Given the description of an element on the screen output the (x, y) to click on. 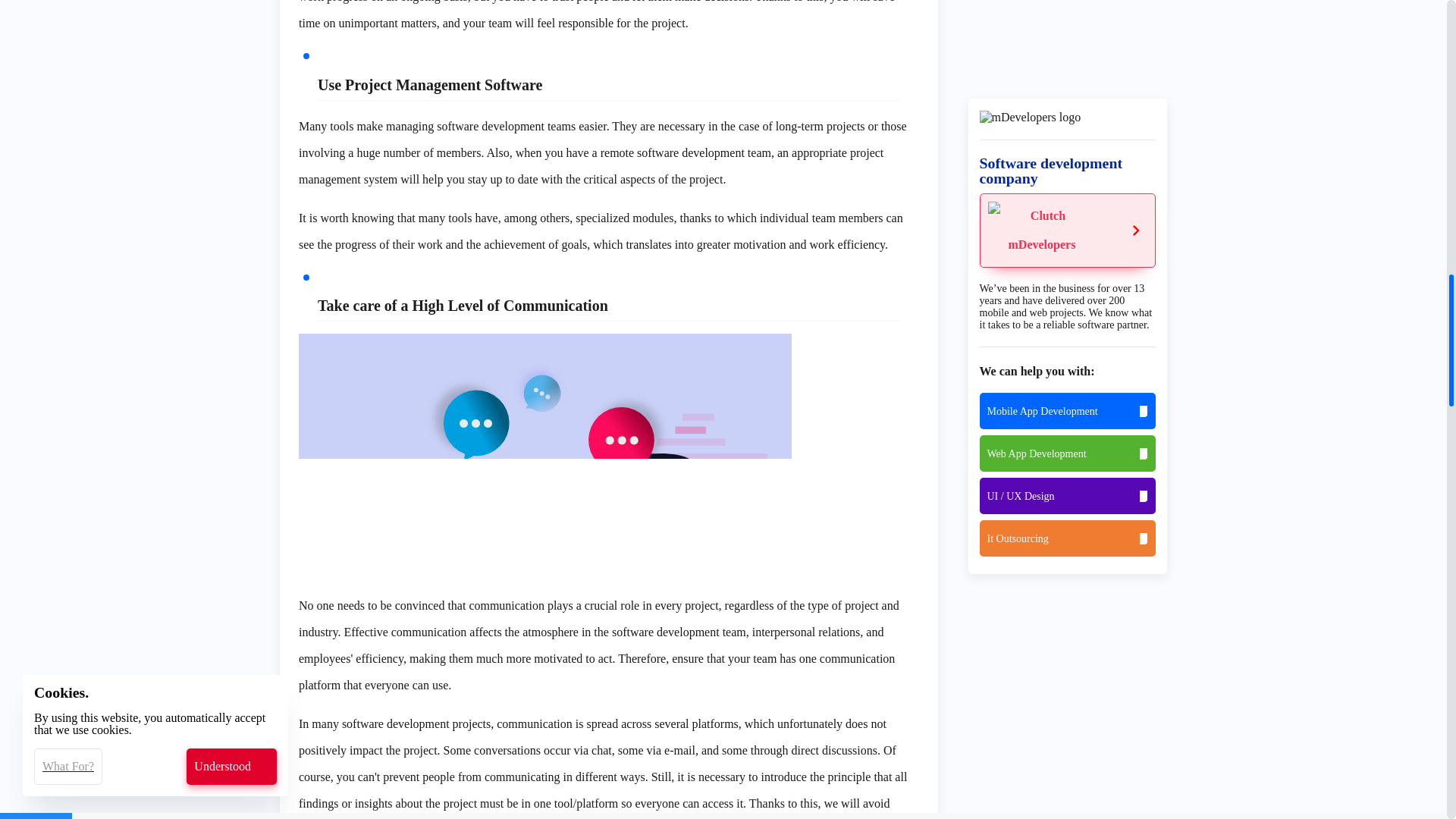
TakeCareofaHighLevelofCommunication (545, 456)
